Given the description of an element on the screen output the (x, y) to click on. 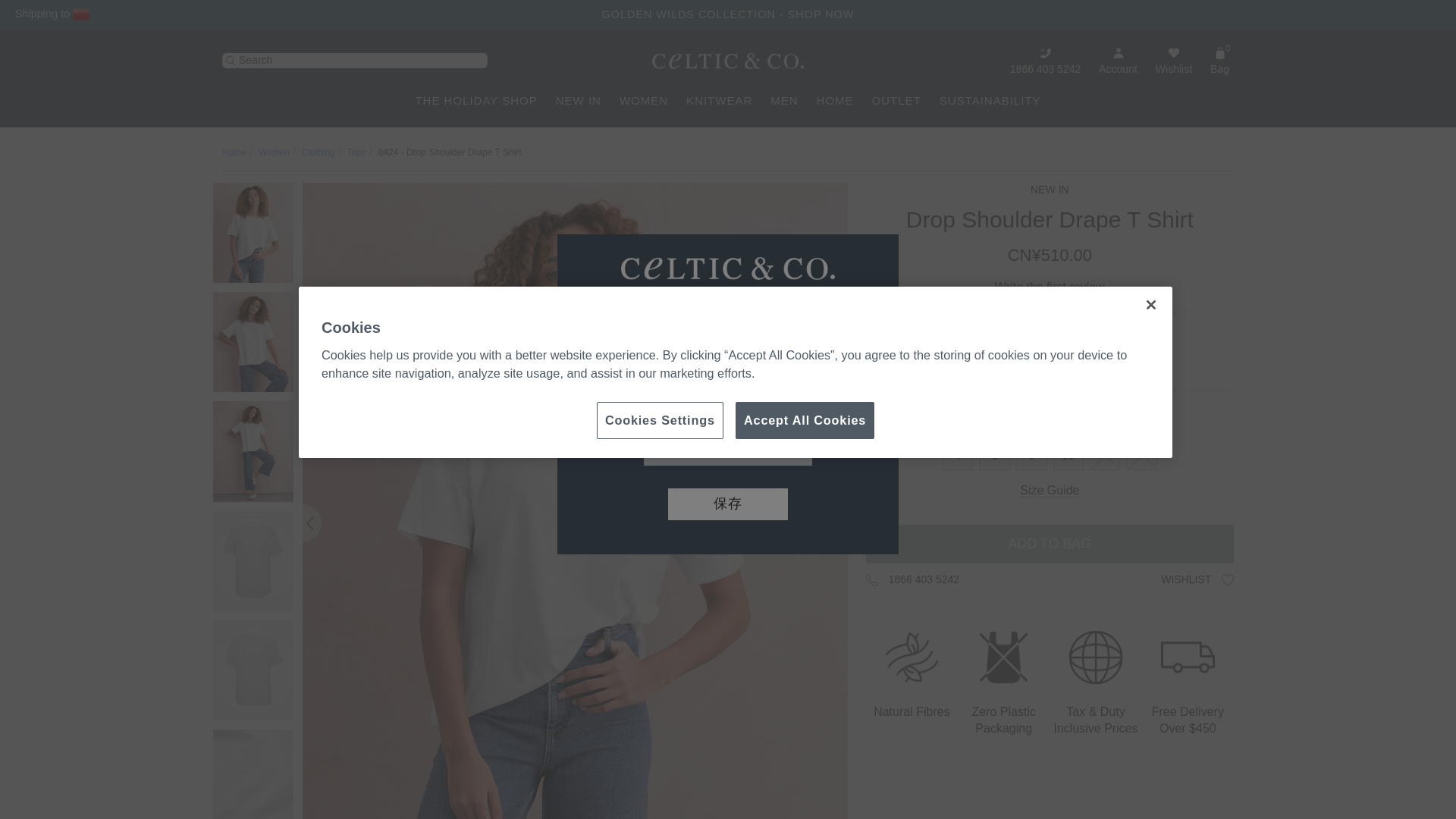
New In (578, 100)
The Holiday Shop (475, 100)
White (1048, 363)
Men (783, 100)
Home (834, 100)
Sustainability (990, 100)
Outlet (896, 100)
Knitwear (718, 100)
Women (644, 100)
